Given the description of an element on the screen output the (x, y) to click on. 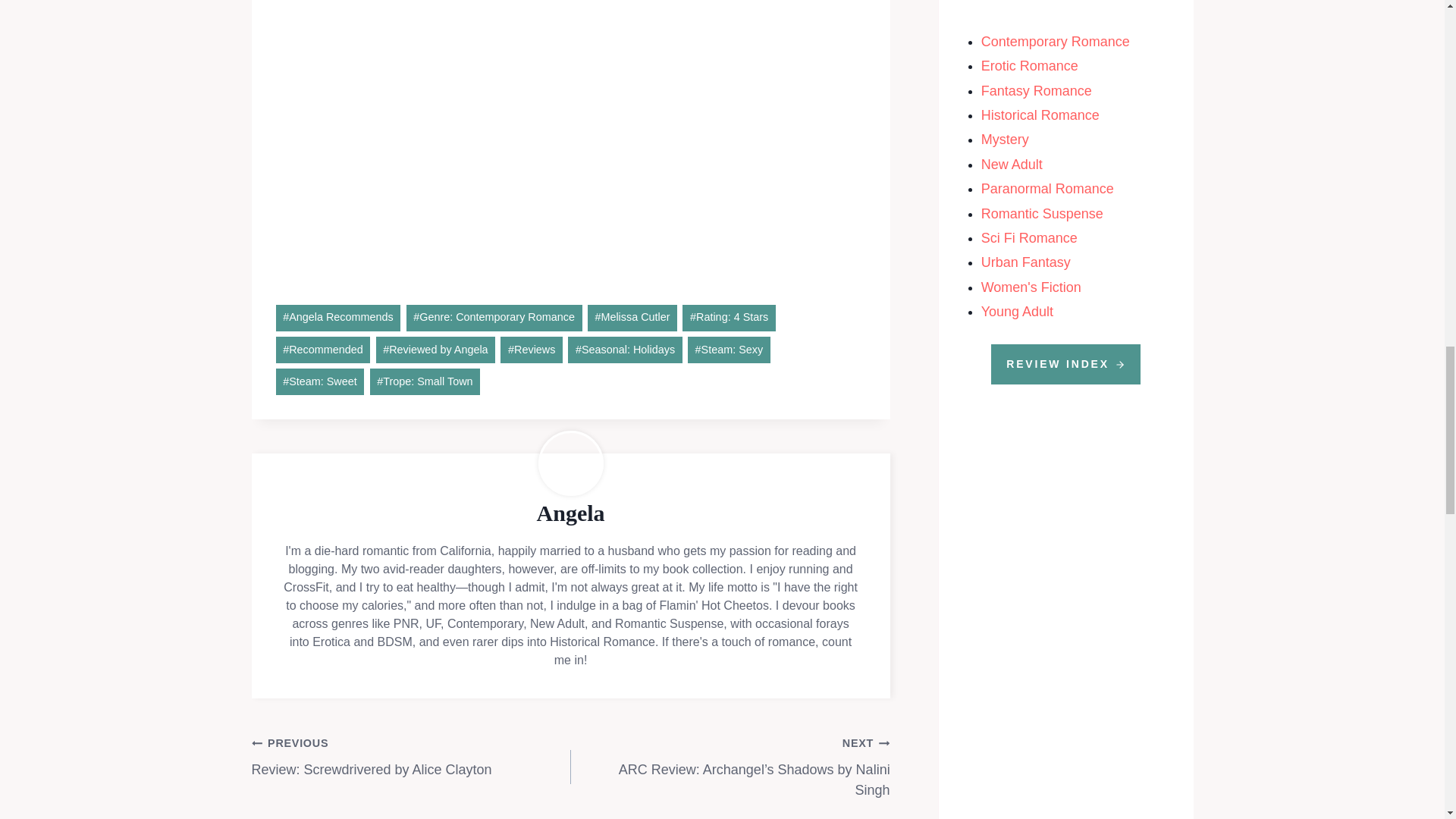
Reviews (531, 349)
Genre: Contemporary Romance (494, 317)
Trope: Small Town (424, 381)
Angela Recommends (338, 317)
Steam: Sweet (320, 381)
Steam: Sexy (728, 349)
Posts by Angela (571, 512)
Reviewed by Angela (435, 349)
Rating: 4 Stars (728, 317)
Recommended (323, 349)
Melissa Cutler (632, 317)
Seasonal: Holidays (624, 349)
